Given the description of an element on the screen output the (x, y) to click on. 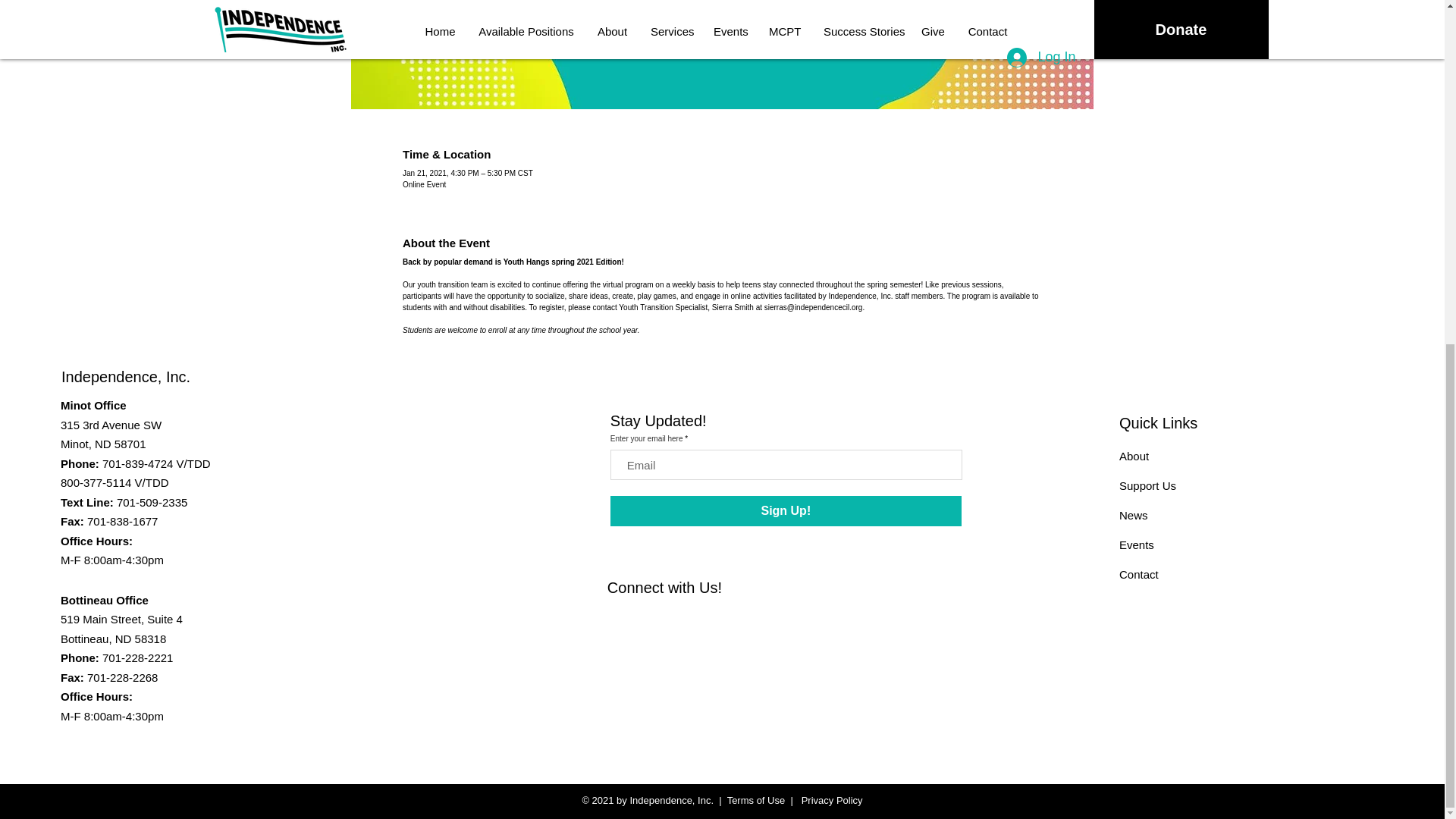
Sign Up! (785, 511)
About (1133, 455)
Terms of Use (756, 799)
 Privacy Policy (830, 799)
Events (1136, 544)
Support Us (1147, 485)
Contact (1138, 574)
News (1133, 514)
